Given the description of an element on the screen output the (x, y) to click on. 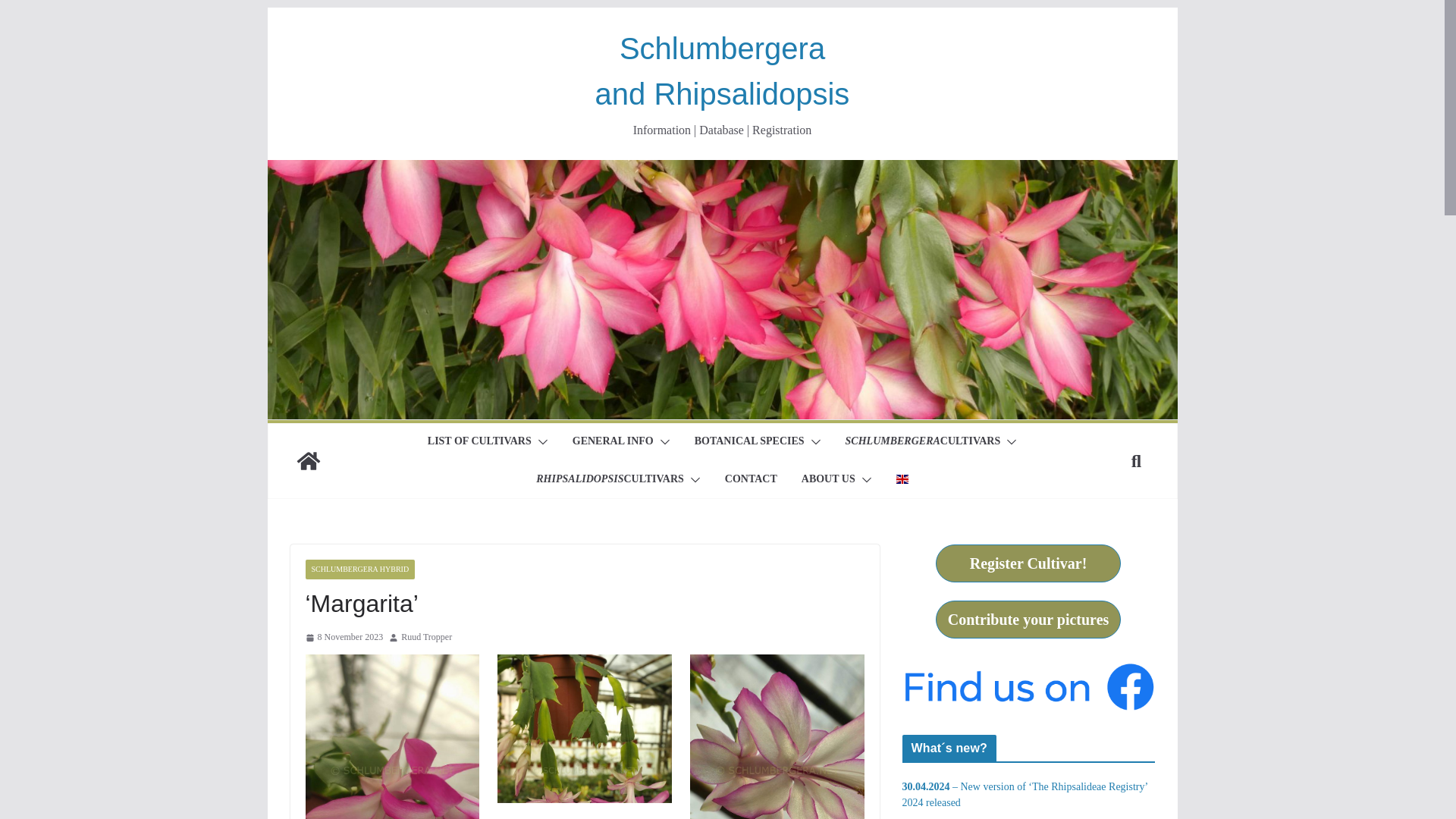
Schlumbergera and Rhipsalidopsis (722, 70)
Schlumbergera and Rhipsalidopsis (721, 169)
1:46 pm (343, 637)
GENERAL INFO (612, 441)
Ruud Tropper (426, 637)
Schlumbergera and Rhipsalidopsis (307, 461)
LIST OF CULTIVARS (479, 441)
Schlumbergera and Rhipsalidopsis (722, 70)
BOTANICAL SPECIES (749, 441)
